Given the description of an element on the screen output the (x, y) to click on. 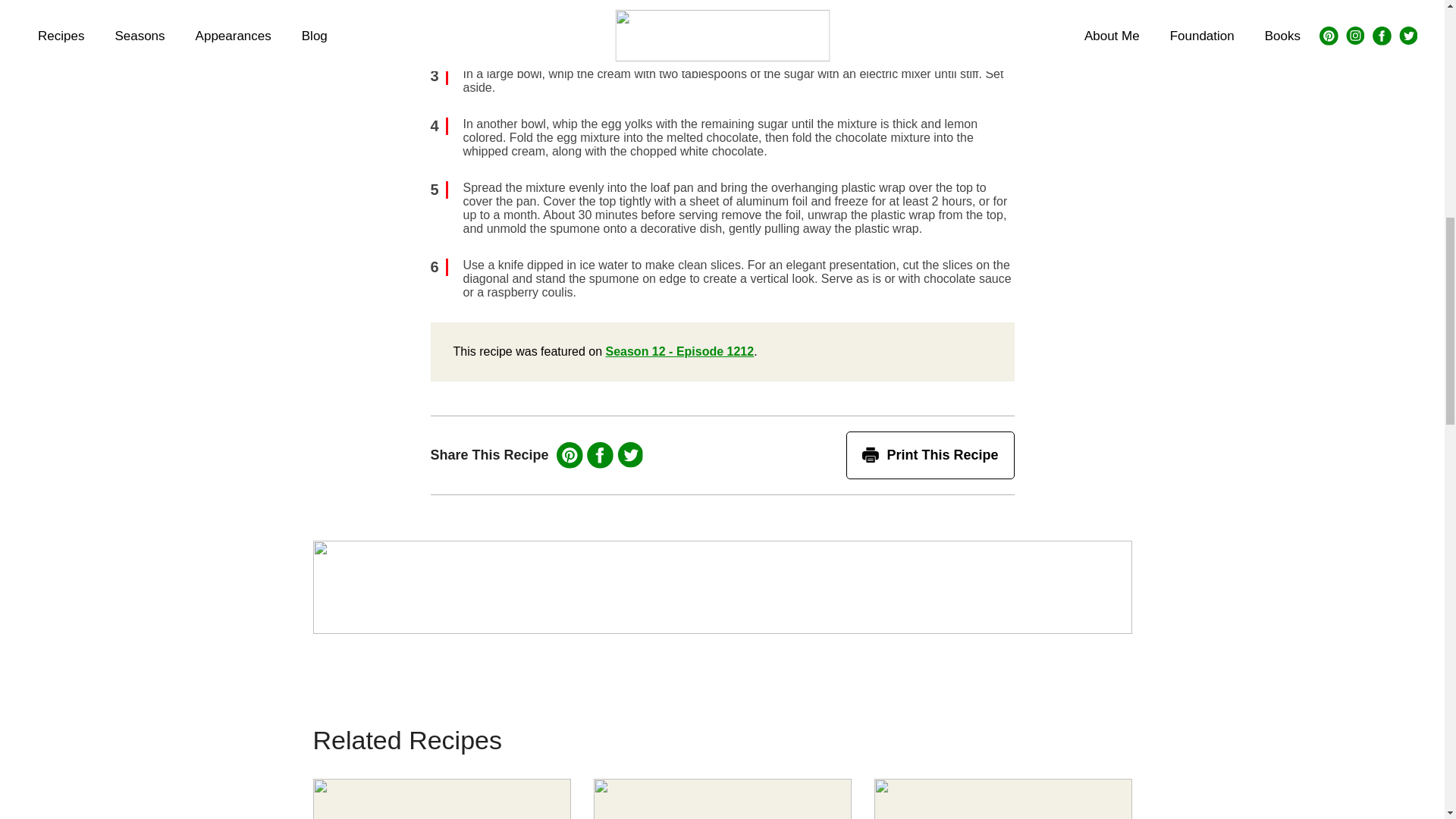
Print This Recipe (929, 455)
Season 12 - Episode 1212 (679, 350)
